Given the description of an element on the screen output the (x, y) to click on. 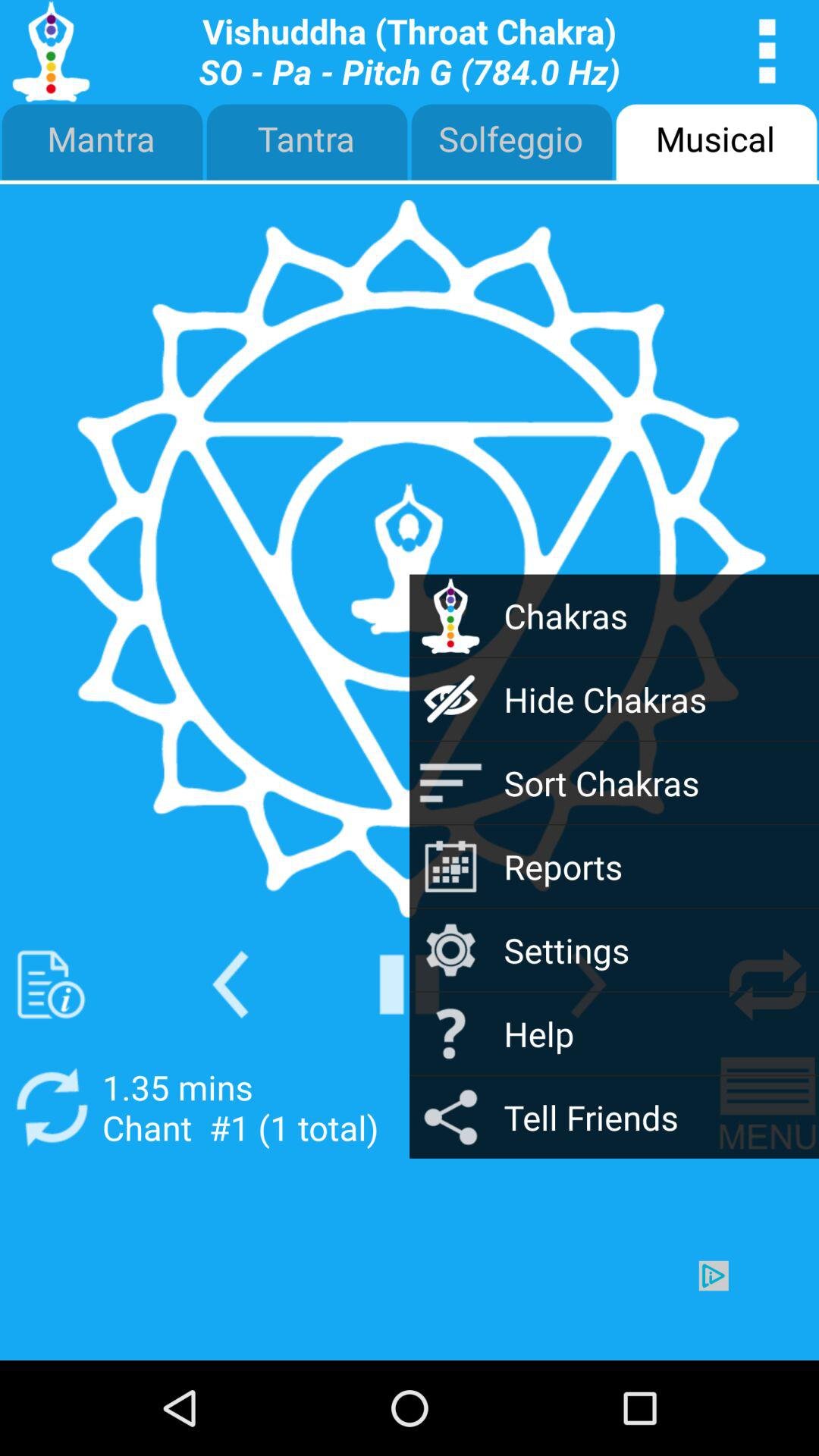
back screen (230, 984)
